Given the description of an element on the screen output the (x, y) to click on. 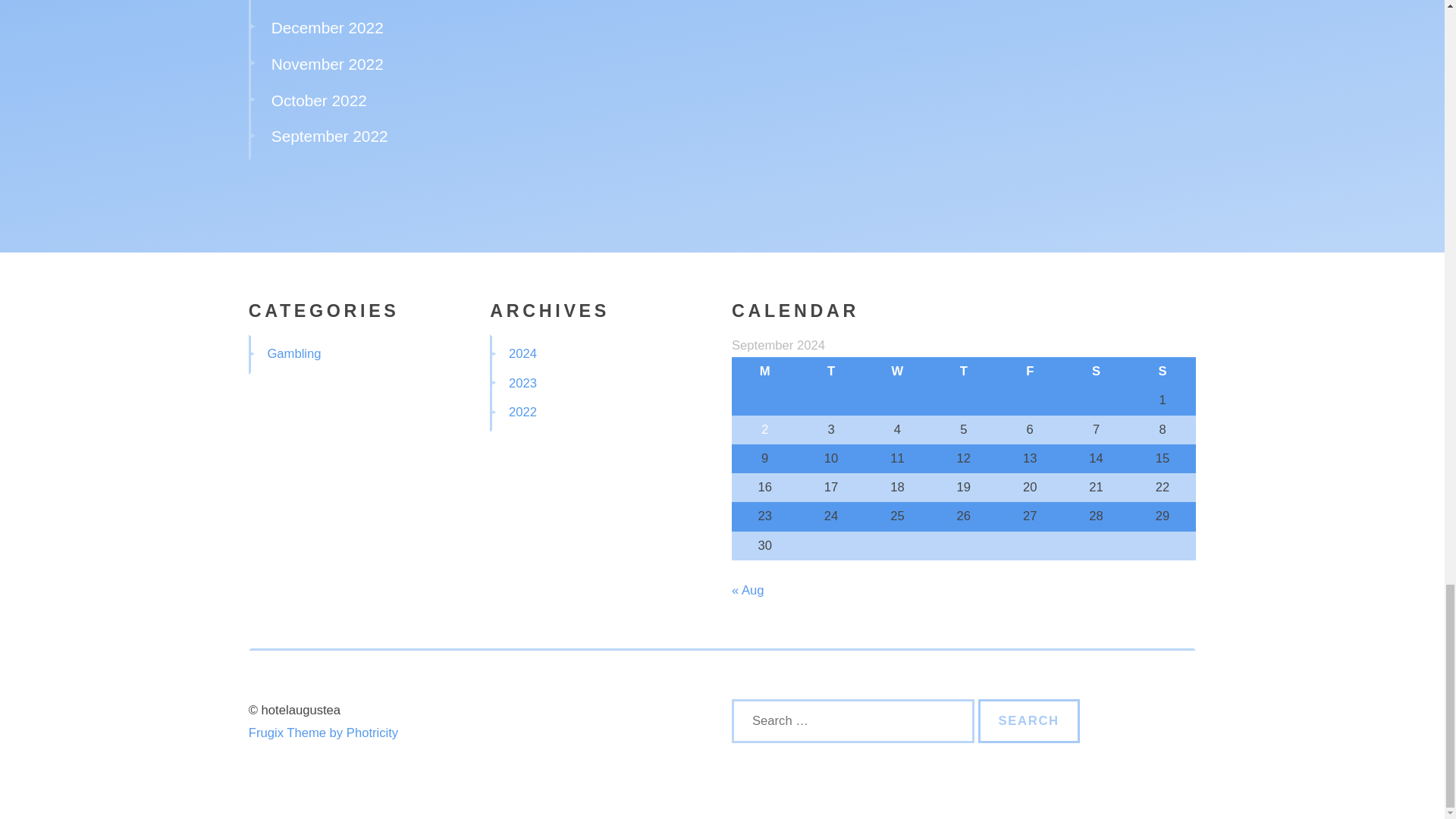
Search (1029, 720)
Sunday (1162, 371)
Search (1029, 720)
Gambling (293, 353)
Wednesday (897, 371)
Thursday (962, 371)
September 2022 (329, 135)
Tuesday (830, 371)
November 2022 (327, 63)
Friday (1029, 371)
